Given the description of an element on the screen output the (x, y) to click on. 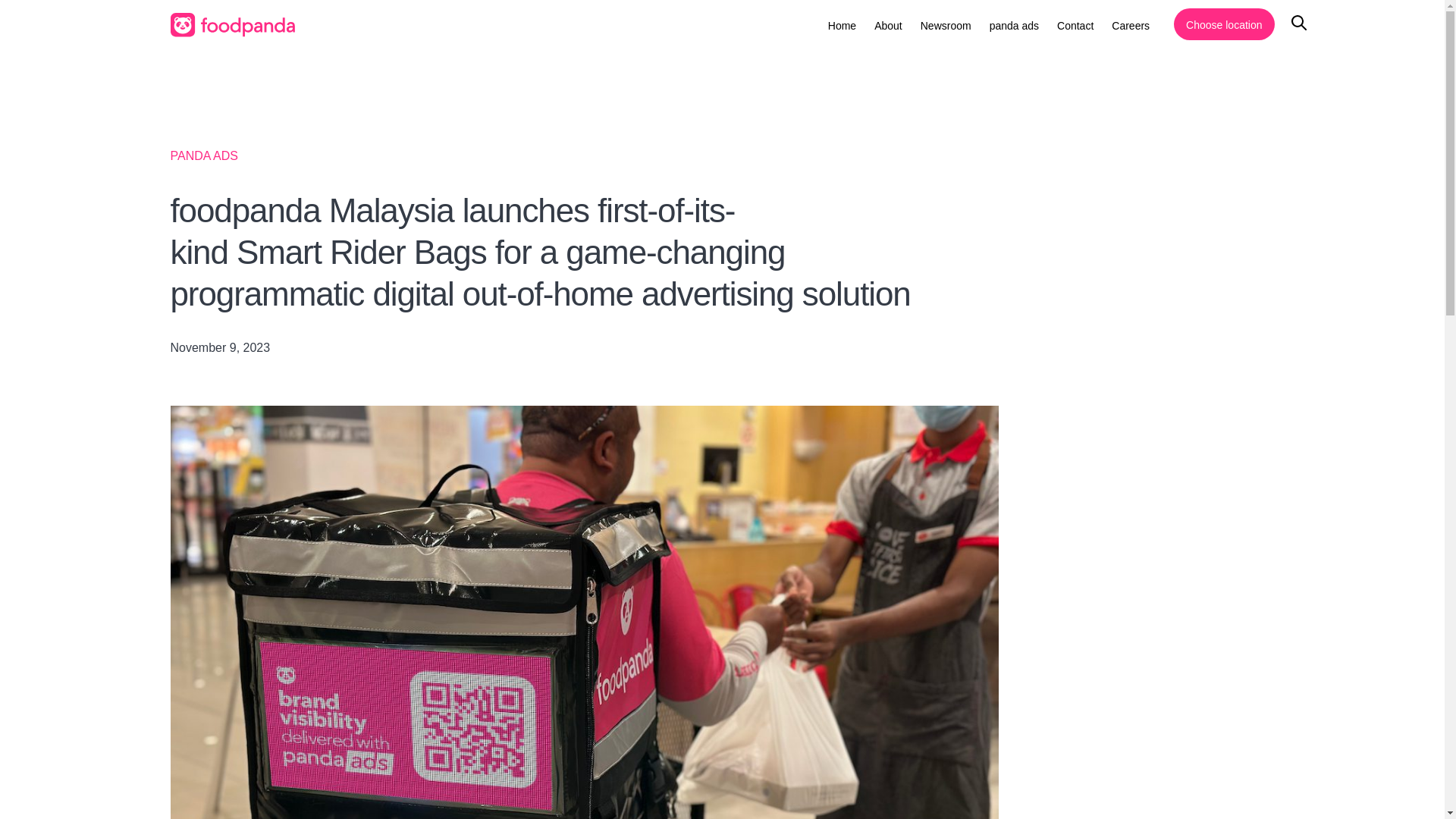
panda ads (1014, 25)
Newsroom (945, 25)
Choose location (1223, 24)
